Given the description of an element on the screen output the (x, y) to click on. 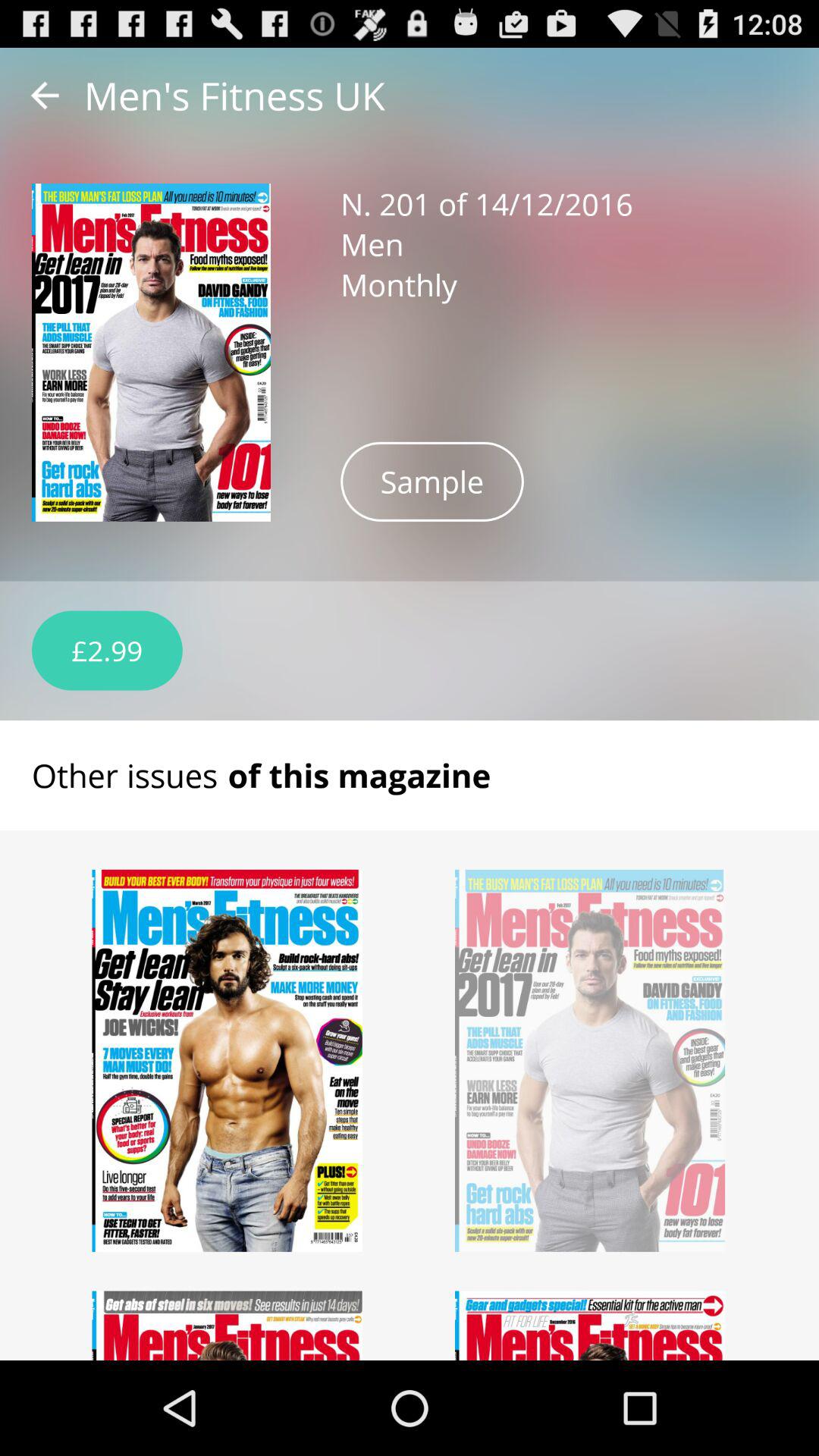
select issue (590, 1325)
